Given the description of an element on the screen output the (x, y) to click on. 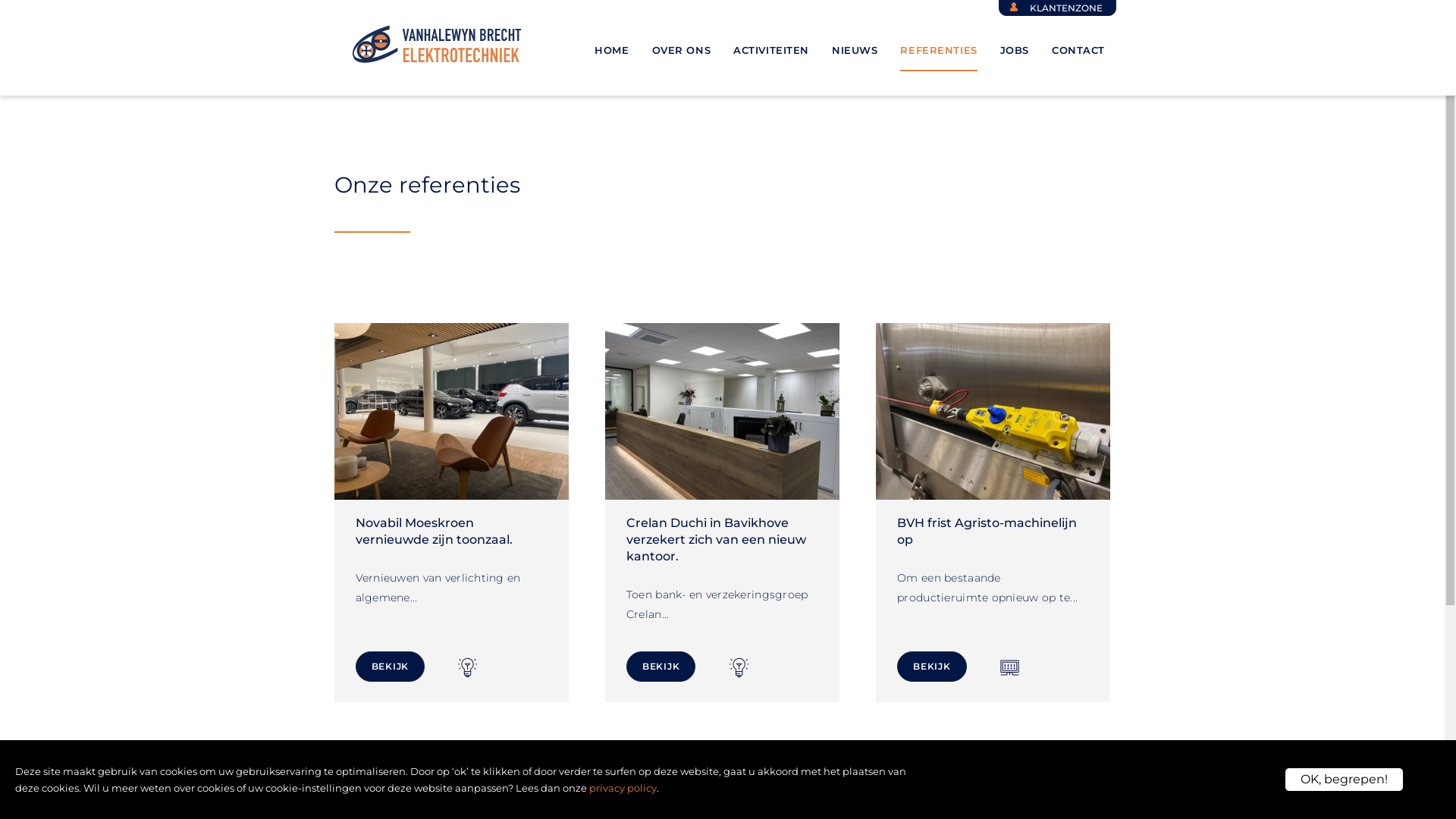
HOME Element type: text (611, 47)
JOBS Element type: text (1014, 47)
NIEUWS Element type: text (854, 47)
privacy policy Element type: text (622, 787)
BEKIJK Element type: text (389, 666)
KLANTENZONE Element type: text (1057, 7)
BEKIJK Element type: text (661, 666)
ACTIVITEITEN Element type: text (770, 47)
REFERENTIES Element type: text (938, 47)
CONTACT Element type: text (1078, 47)
OK, begrepen! Element type: text (1343, 779)
BEKIJK Element type: text (931, 666)
OVER ONS Element type: text (681, 47)
